Given the description of an element on the screen output the (x, y) to click on. 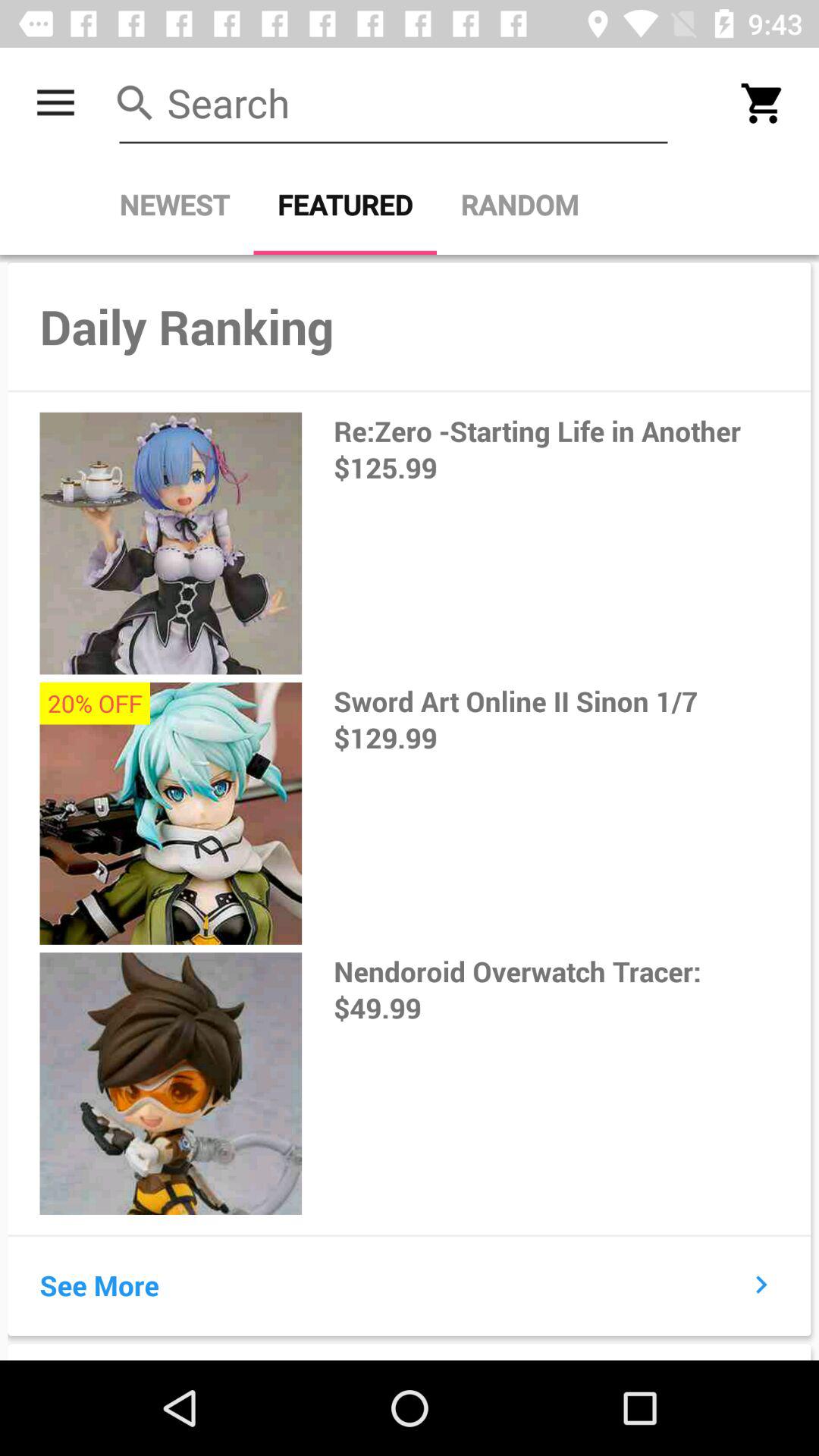
press the newest (174, 204)
